Given the description of an element on the screen output the (x, y) to click on. 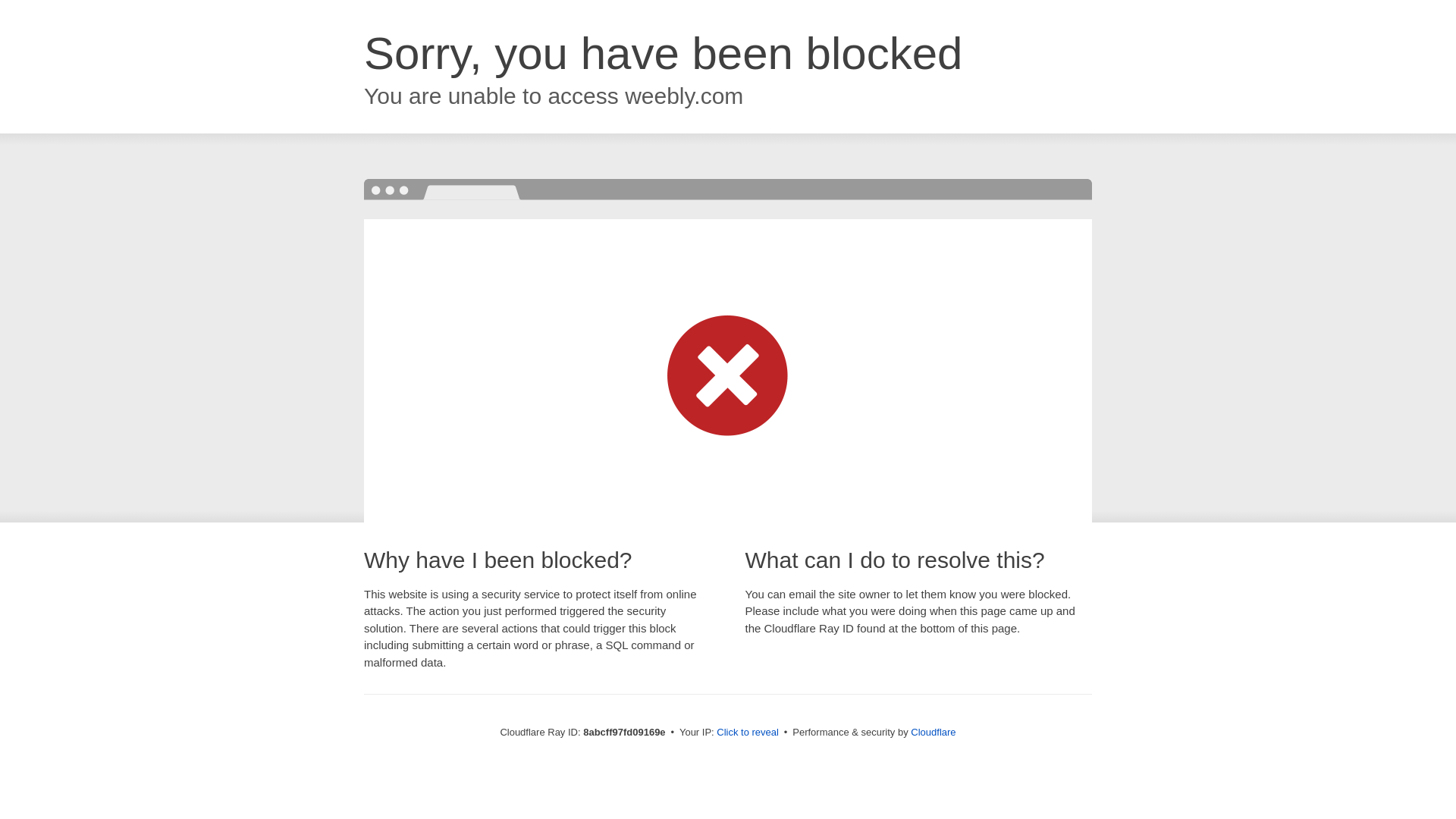
Cloudflare (933, 731)
Click to reveal (747, 732)
